Given the description of an element on the screen output the (x, y) to click on. 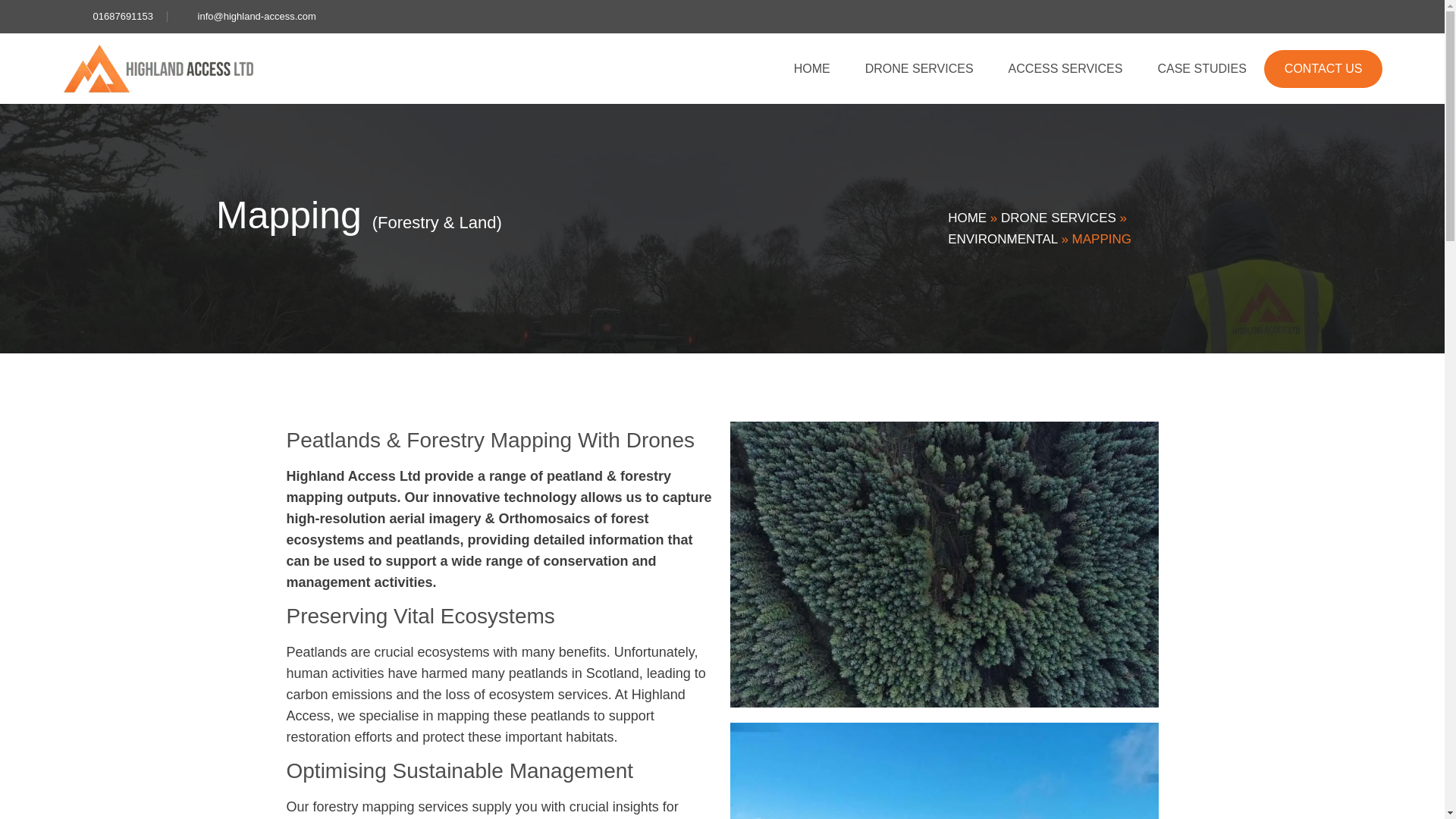
ACCESS SERVICES (1065, 68)
CONTACT US (1323, 68)
CASE STUDIES (1201, 68)
HOME (811, 68)
DRONE SERVICES (919, 68)
